Given the description of an element on the screen output the (x, y) to click on. 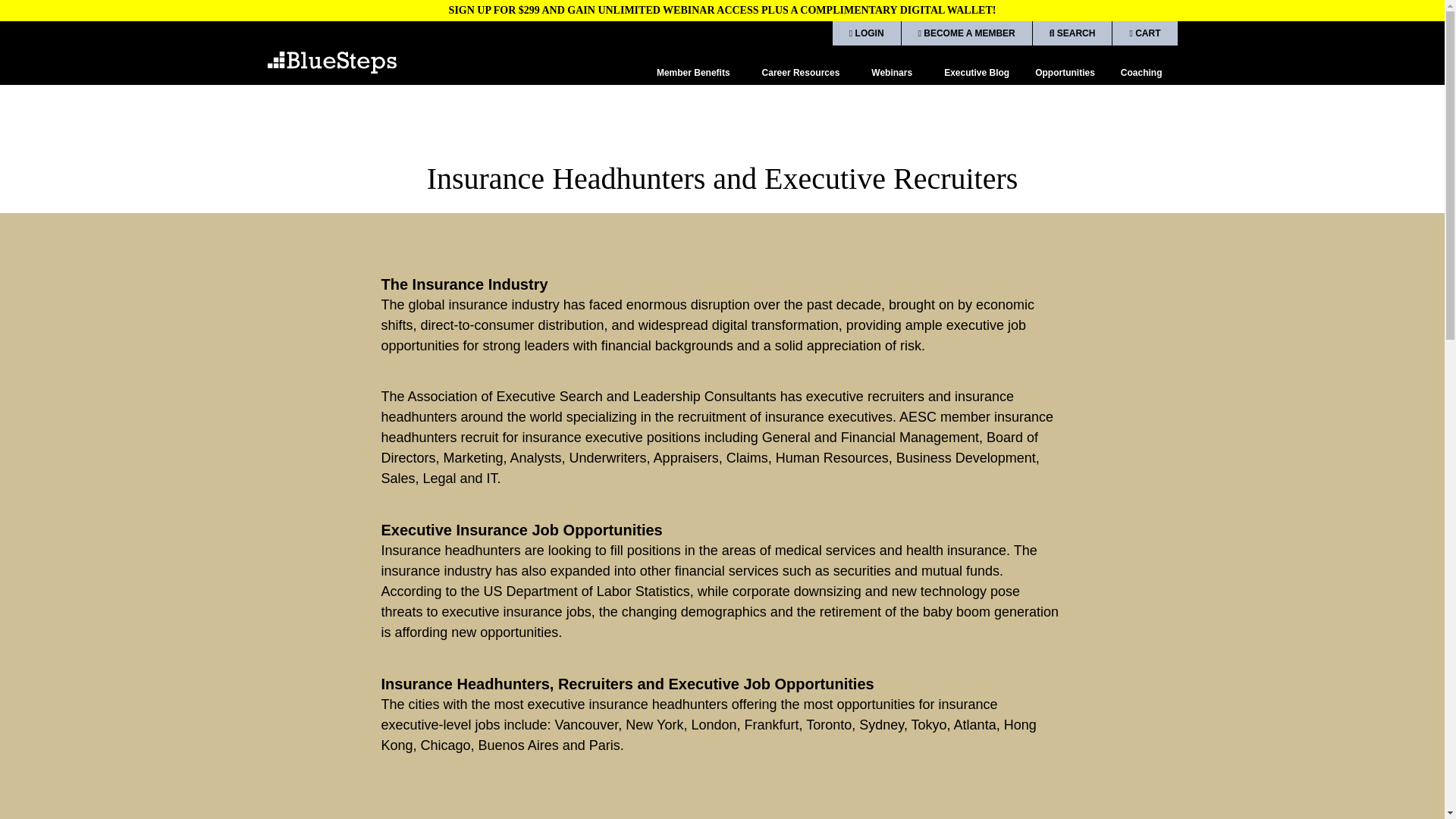
Webinars (894, 72)
SEARCH (1072, 33)
Career Resources (804, 72)
BECOME A MEMBER (966, 33)
LOGIN (866, 33)
Member Benefits (696, 72)
Executive Blog (975, 72)
Opportunities (1064, 72)
CART (1144, 33)
Coaching (1142, 72)
